Given the description of an element on the screen output the (x, y) to click on. 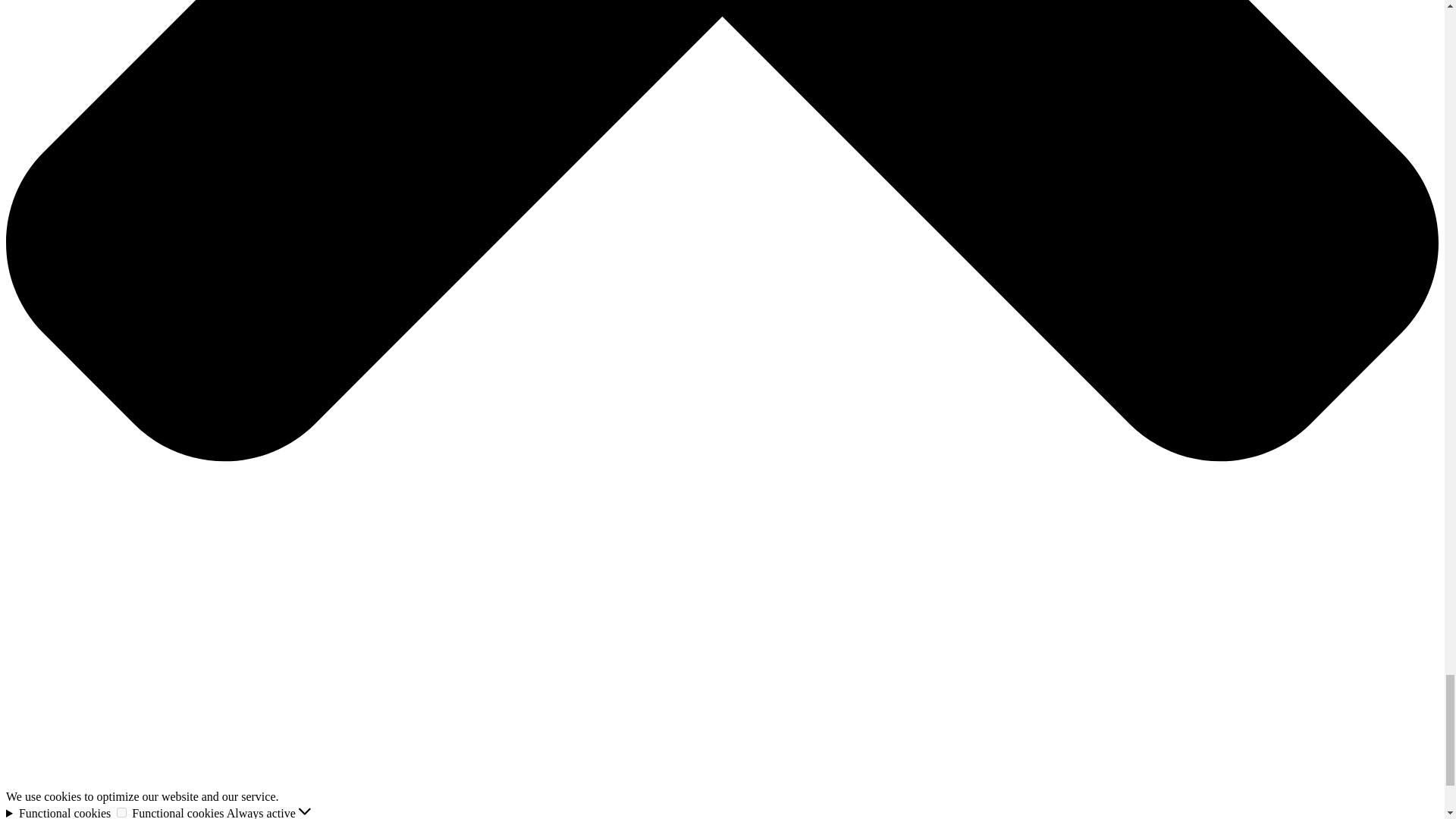
1 (121, 812)
